Given the description of an element on the screen output the (x, y) to click on. 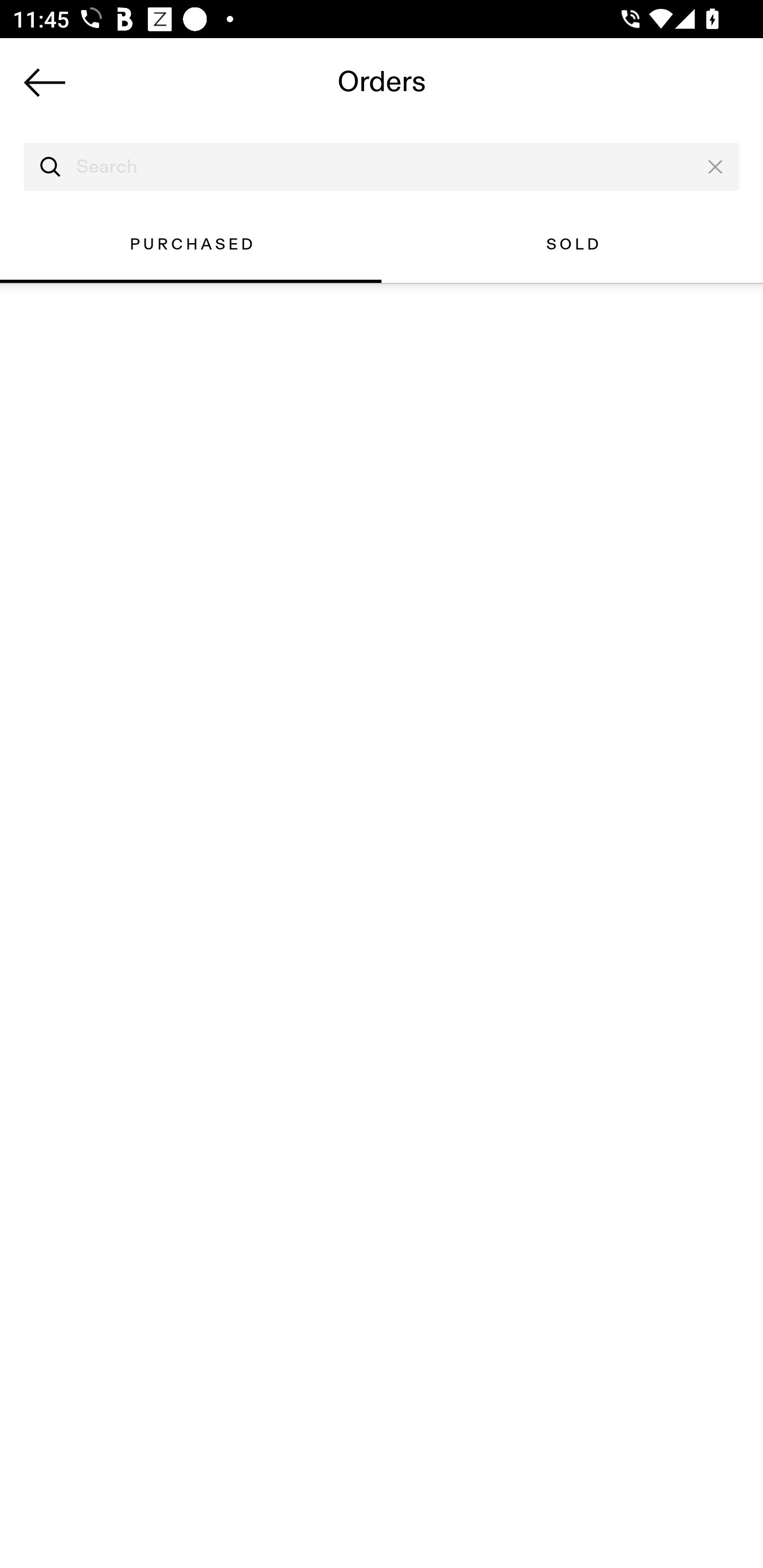
Navigate up (44, 82)
Search (381, 166)
SOLD (572, 244)
